Given the description of an element on the screen output the (x, y) to click on. 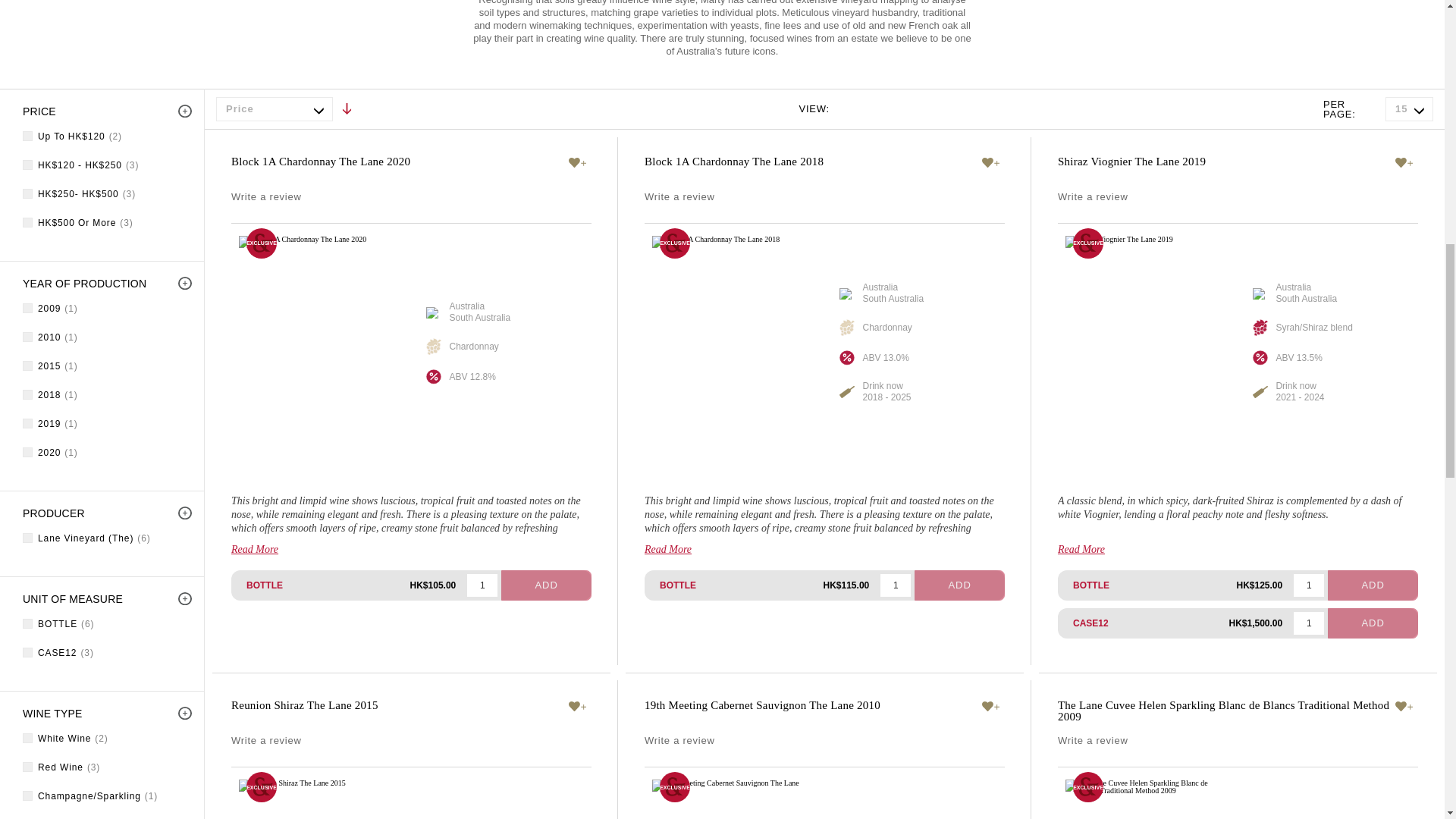
Quantity (482, 585)
Add (1372, 623)
List (881, 108)
Quantity (895, 585)
Add (545, 585)
Quantity (1308, 622)
1 (482, 585)
Add (959, 585)
Add (1372, 585)
Grid (851, 108)
Quantity (1308, 585)
1 (1308, 622)
1 (1308, 585)
1 (895, 585)
